Given the description of an element on the screen output the (x, y) to click on. 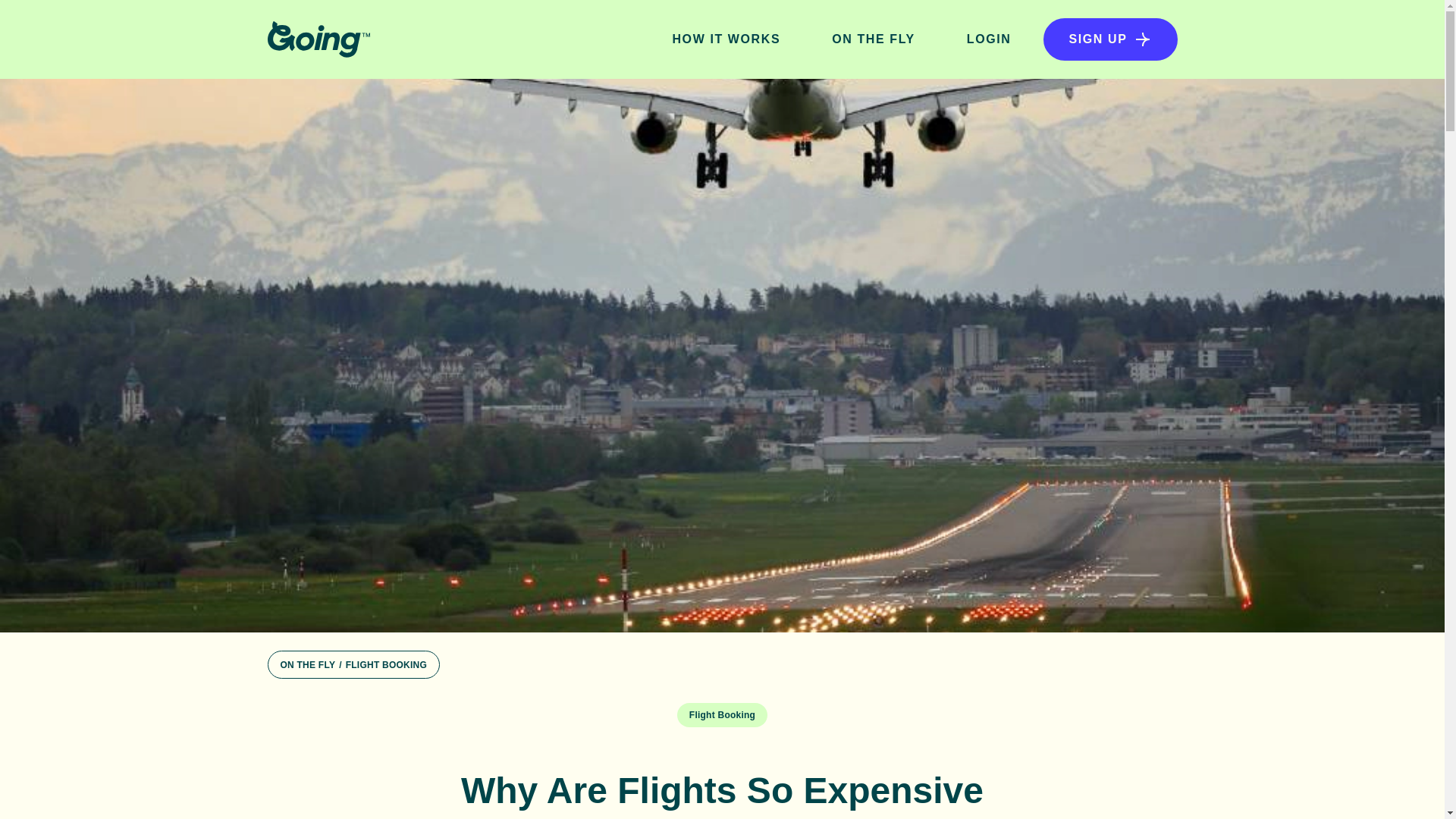
ON THE FLY (308, 665)
HOW IT WORKS (725, 39)
ON THE FLY (873, 39)
SIGN UP (1110, 39)
FLIGHT BOOKING (386, 665)
LOGIN (988, 39)
